Given the description of an element on the screen output the (x, y) to click on. 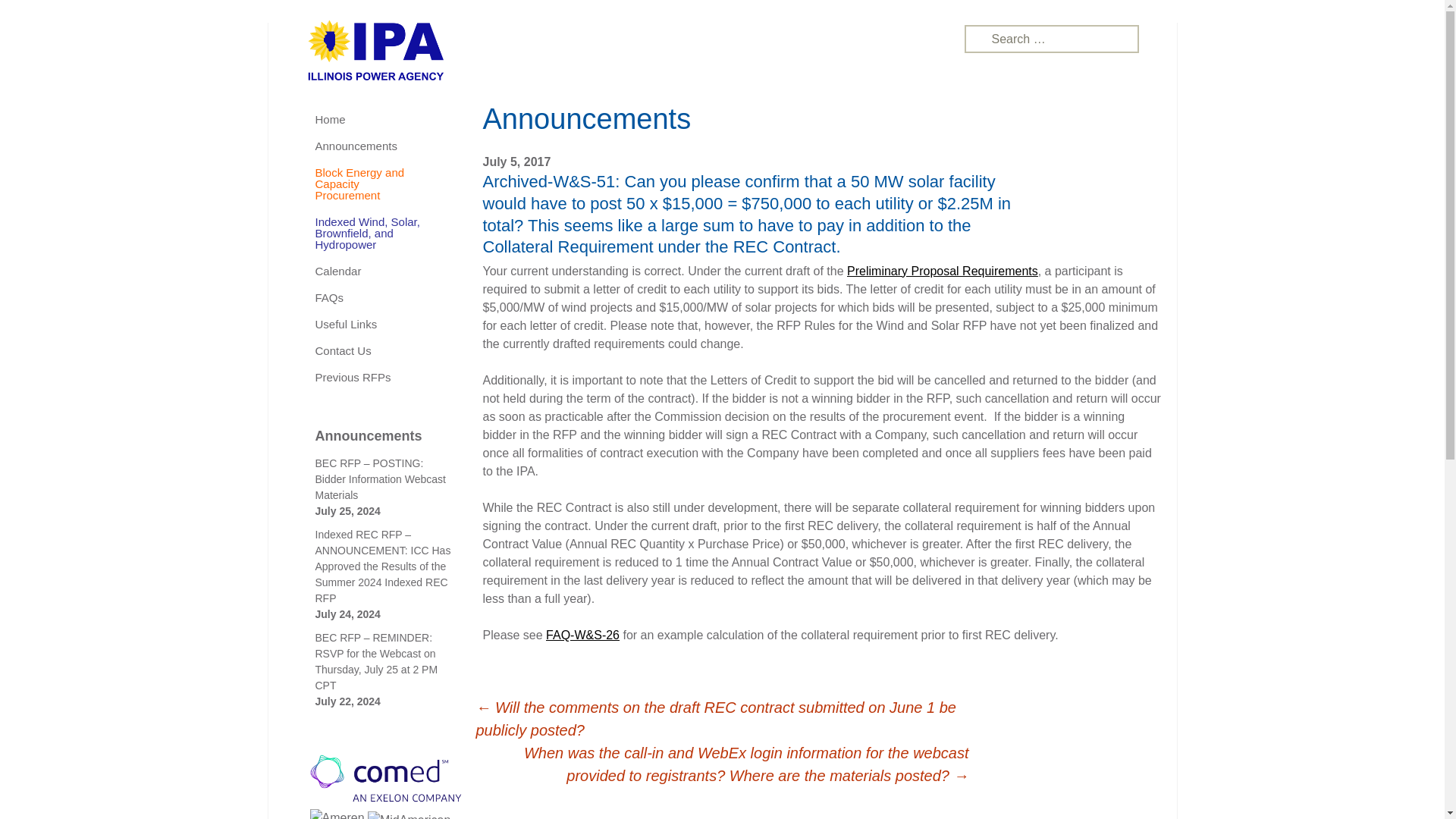
Ameren (336, 814)
Illinois Power Agency RFPs (375, 49)
Announcements (370, 145)
Block Energy and Capacity Procurement (370, 183)
Illinois Power Agency RFPs (715, 51)
ComEd (384, 778)
Home (370, 119)
MidAmerican (408, 815)
Search (37, 15)
